Given the description of an element on the screen output the (x, y) to click on. 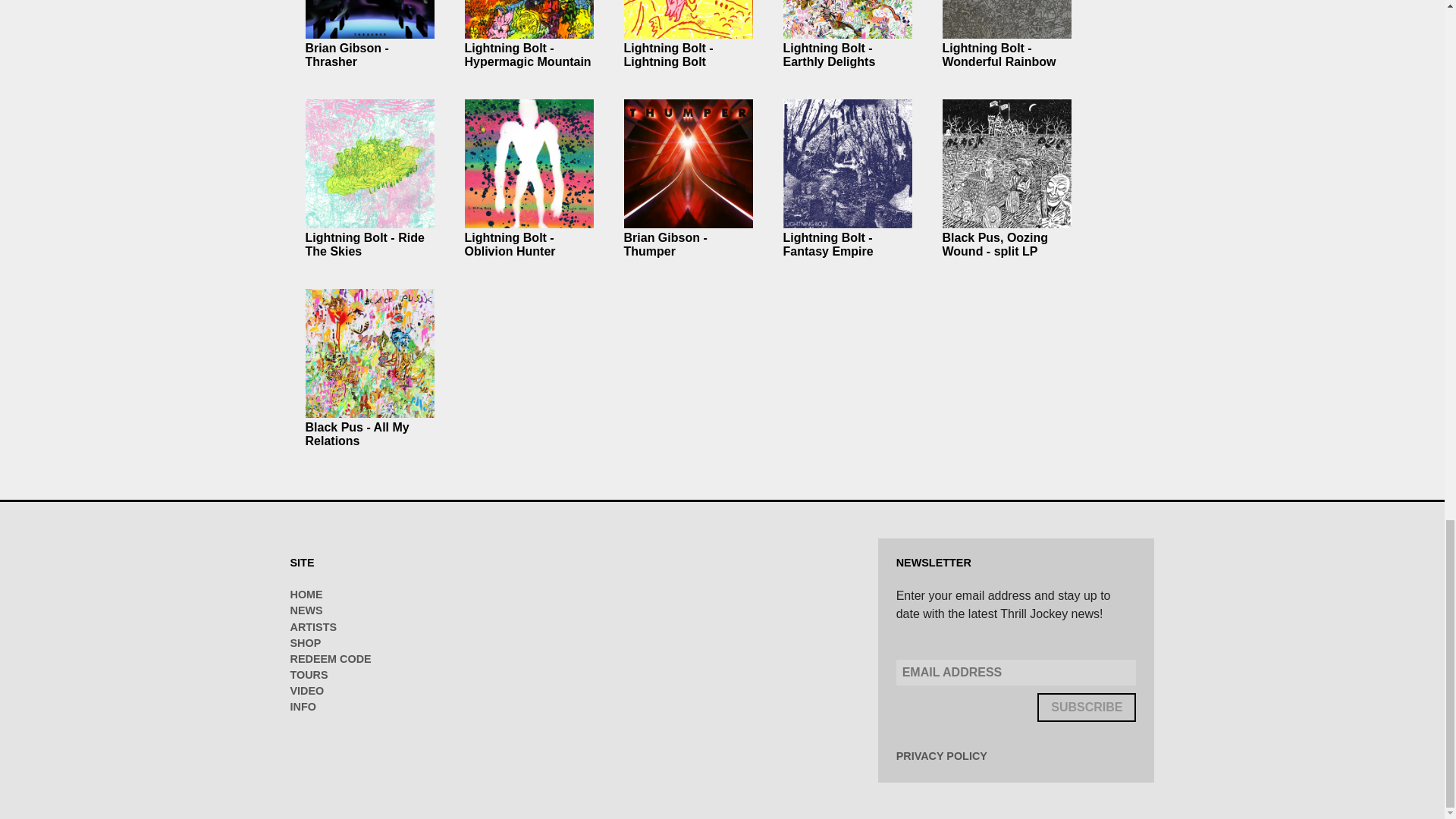
Lightning Bolt - Wonderful Rainbow (998, 54)
Lightning Bolt - Hypermagic Mountain (527, 54)
Black Pus, Oozing Wound - split LP (995, 243)
Lightning Bolt - Ride The Skies (363, 243)
Subscribe (1085, 706)
Brian Gibson - Thrasher (346, 54)
Lightning Bolt - Fantasy Empire (827, 243)
Lightning Bolt - Lightning Bolt (668, 54)
Brian Gibson - Thumper (664, 243)
Lightning Bolt - Oblivion Hunter (509, 243)
Lightning Bolt - Earthly Delights (829, 54)
